Given the description of an element on the screen output the (x, y) to click on. 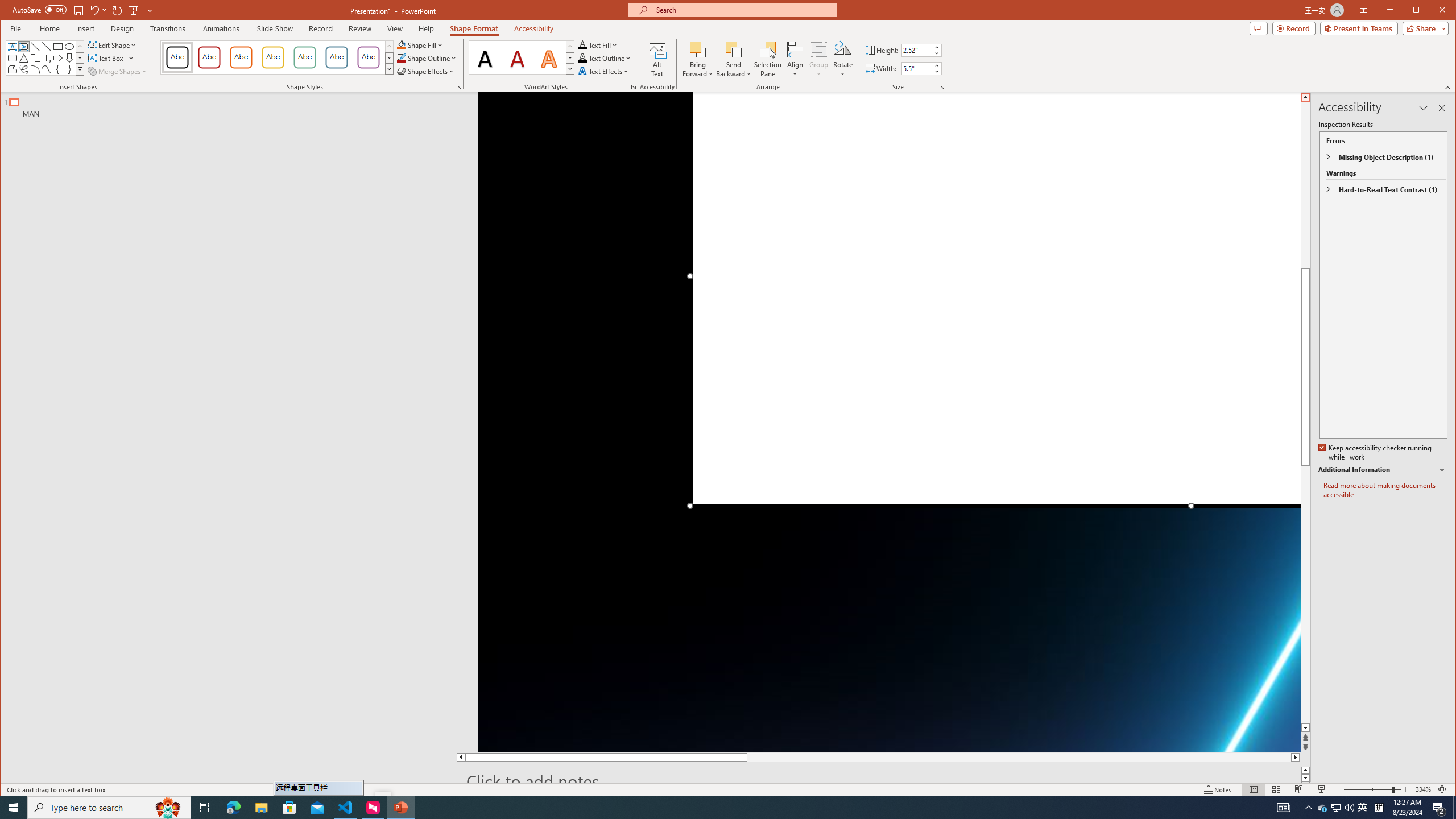
Size and Position... (941, 86)
Title TextBox (994, 299)
Shape Effects (425, 70)
Shape Outline (426, 57)
Send Backward (733, 59)
Colored Outline - Dark Red, Accent 1 (209, 57)
